Given the description of an element on the screen output the (x, y) to click on. 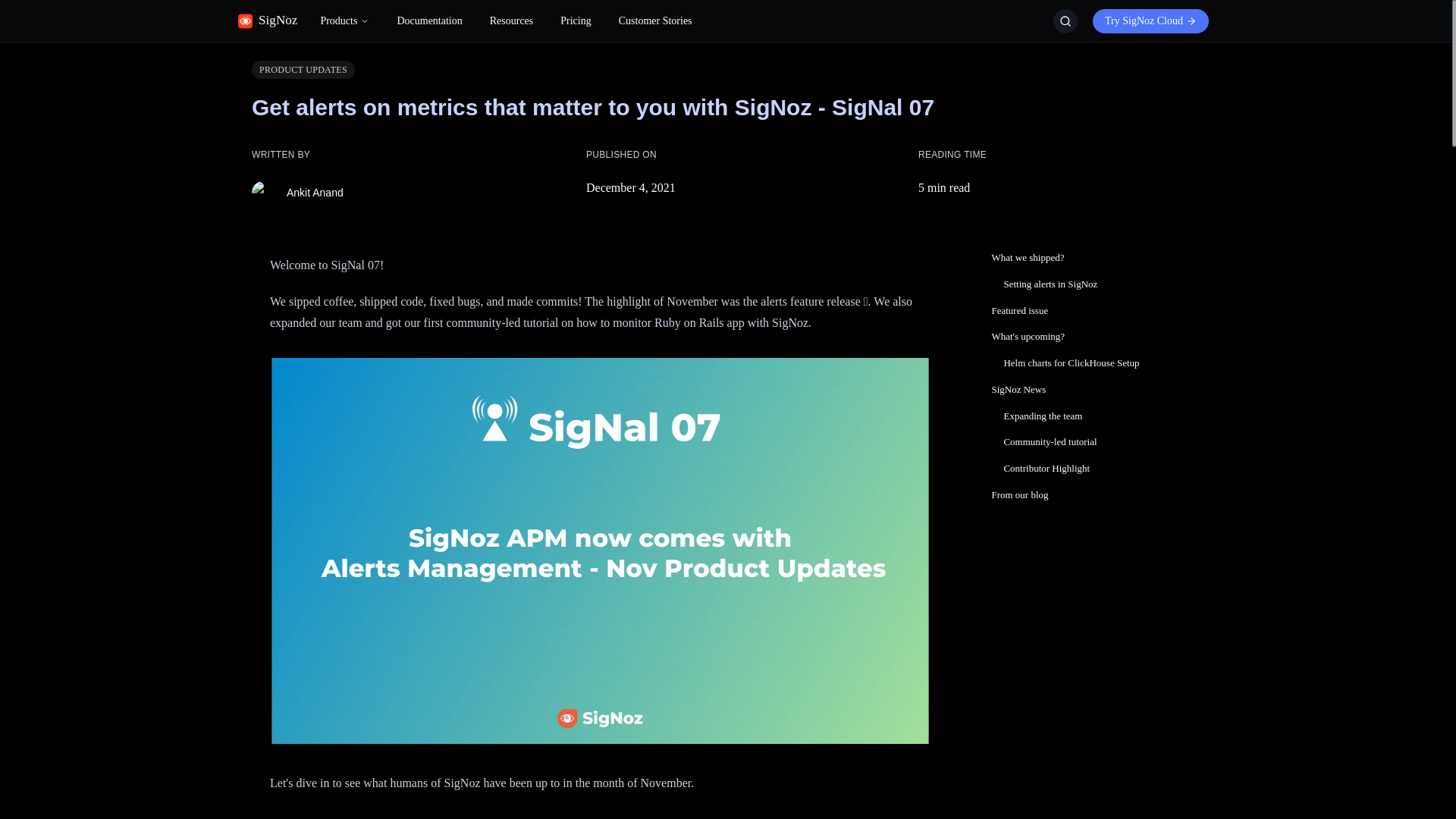
Try SigNoz Cloud (1150, 21)
What's upcoming? (1091, 335)
Featured issue (1091, 310)
Resources (511, 20)
Products (344, 20)
Expanding the team (1091, 416)
SigNoz News (1091, 389)
Community-led tutorial (1091, 441)
Helm charts for ClickHouse Setup (1091, 362)
SigNoz (266, 20)
